Given the description of an element on the screen output the (x, y) to click on. 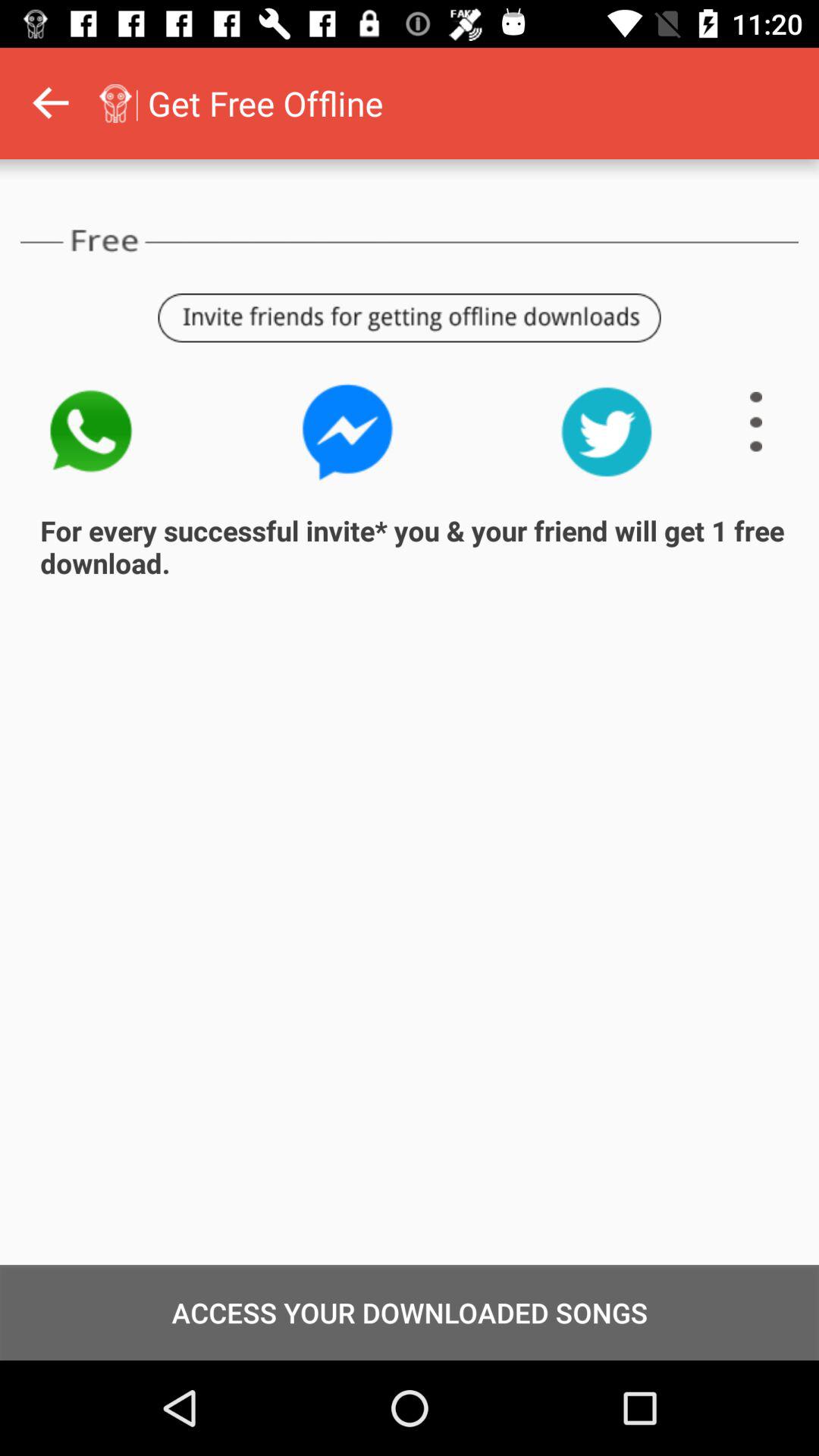
opens facebook messenger (348, 431)
